Given the description of an element on the screen output the (x, y) to click on. 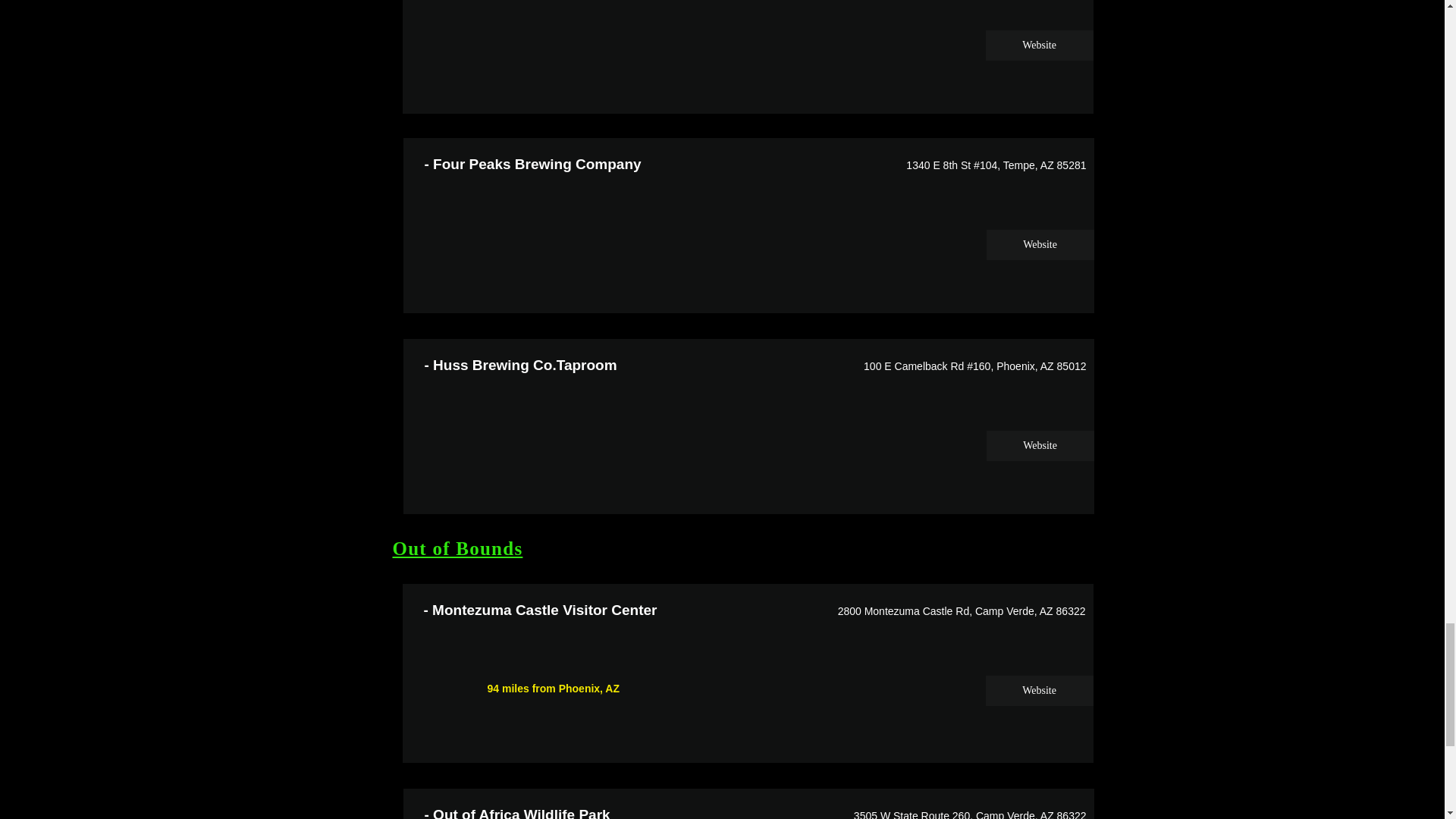
Website (1039, 245)
Website (1039, 445)
Website (1039, 45)
Website (1039, 690)
